Given the description of an element on the screen output the (x, y) to click on. 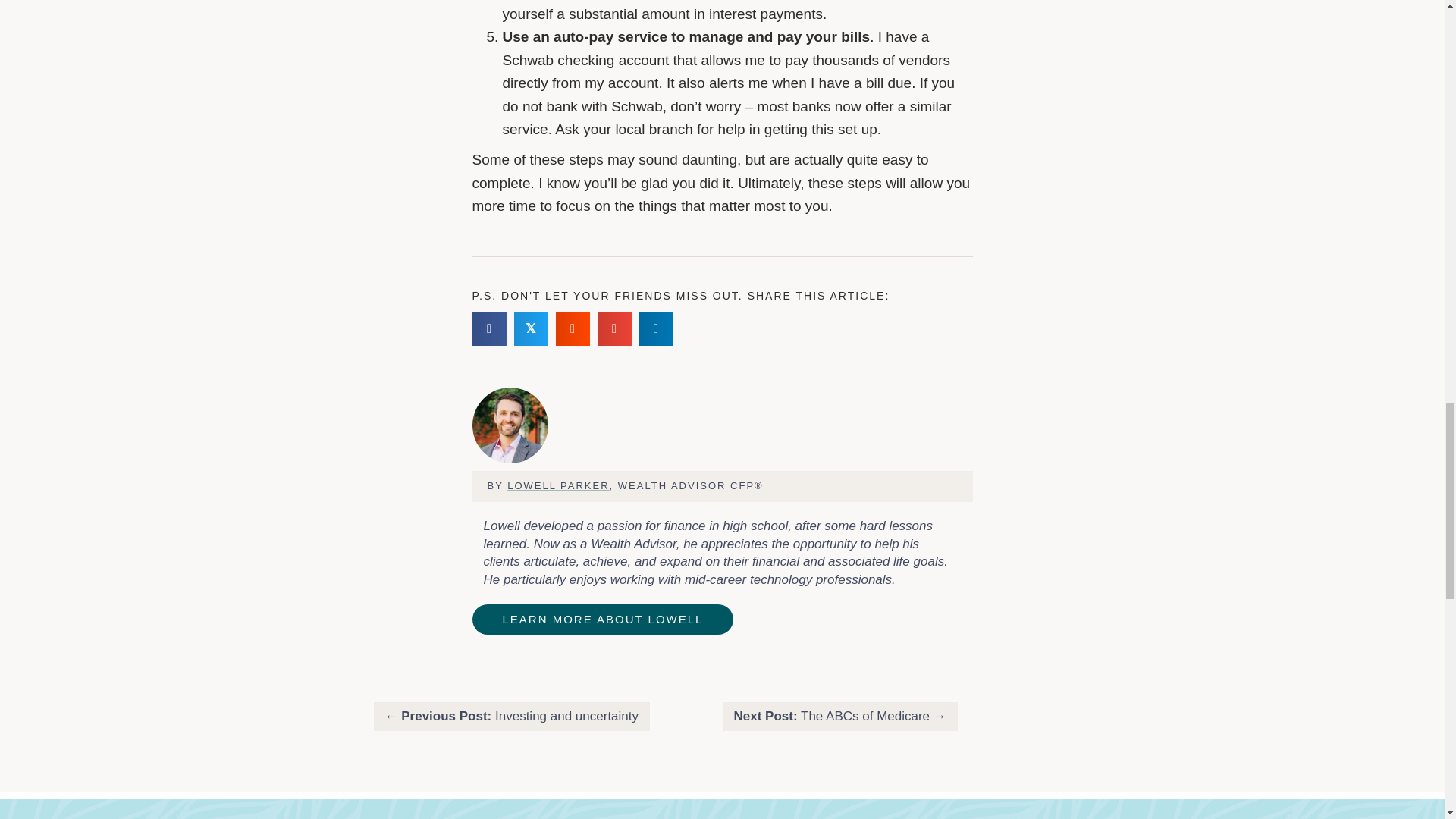
Lowell Parker (509, 425)
